Given the description of an element on the screen output the (x, y) to click on. 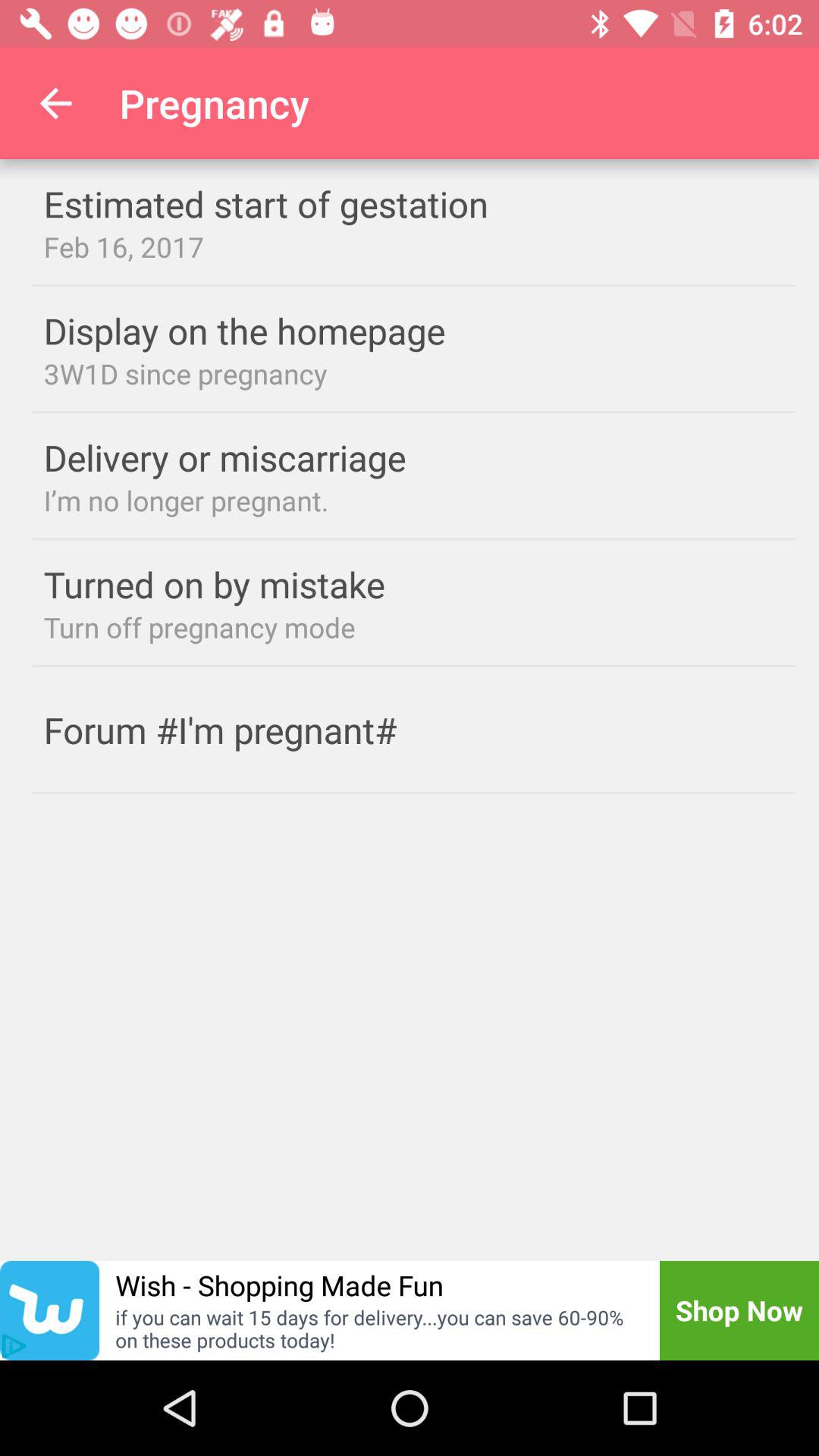
turn on 3w1d since pregnancy item (413, 373)
